Given the description of an element on the screen output the (x, y) to click on. 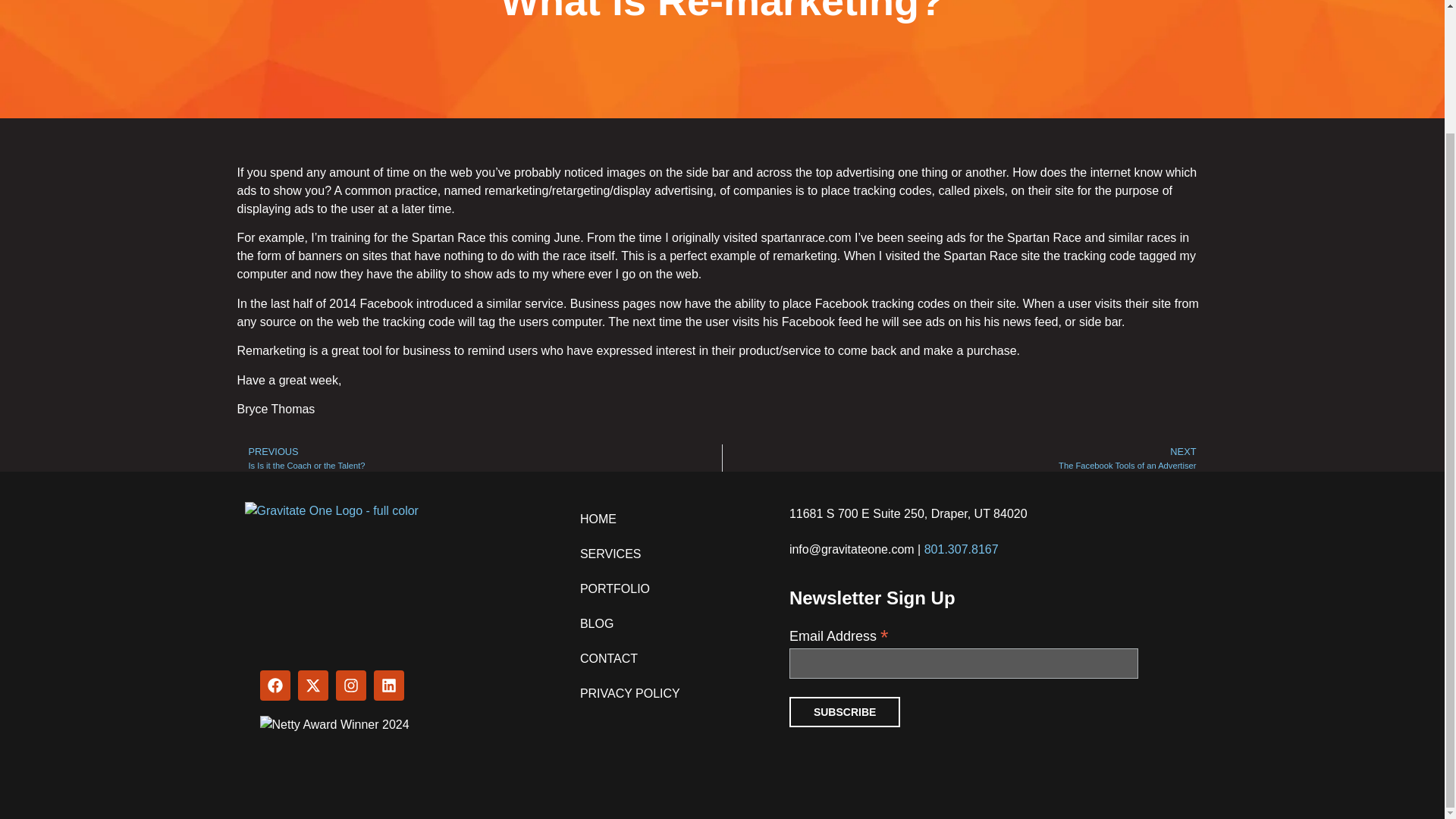
Subscribe (478, 457)
Homepage (965, 457)
